Given the description of an element on the screen output the (x, y) to click on. 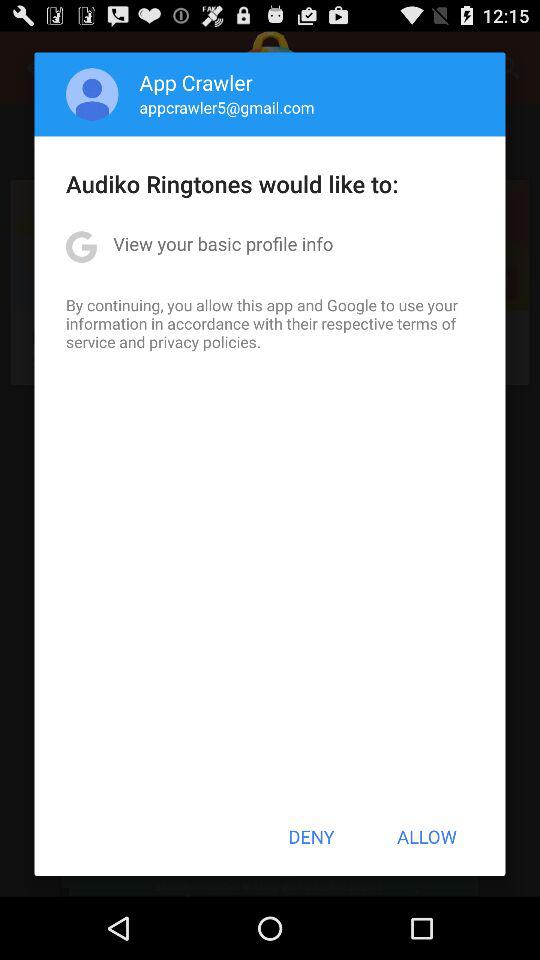
turn on the deny button (311, 836)
